Given the description of an element on the screen output the (x, y) to click on. 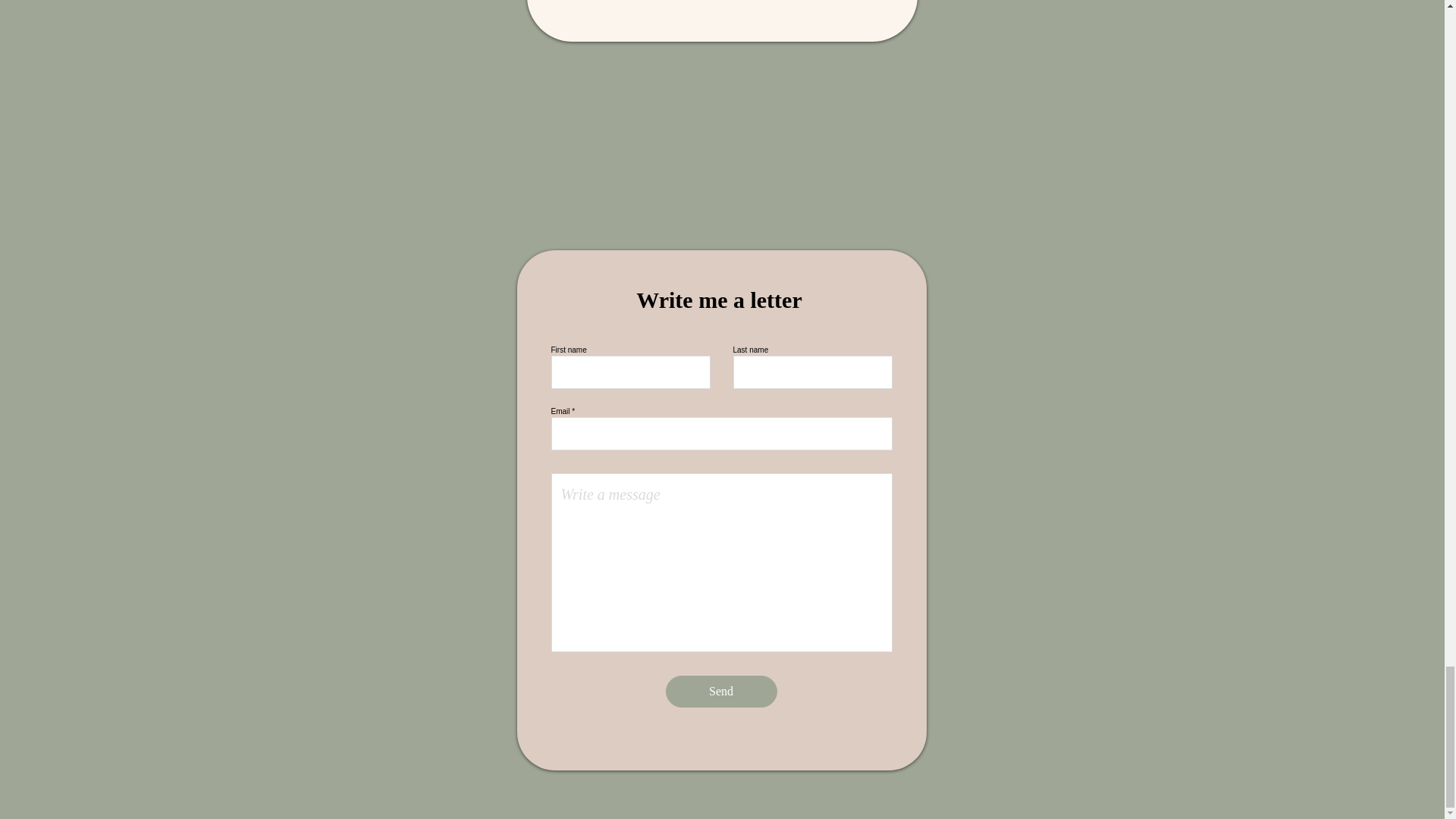
Send (721, 691)
